Given the description of an element on the screen output the (x, y) to click on. 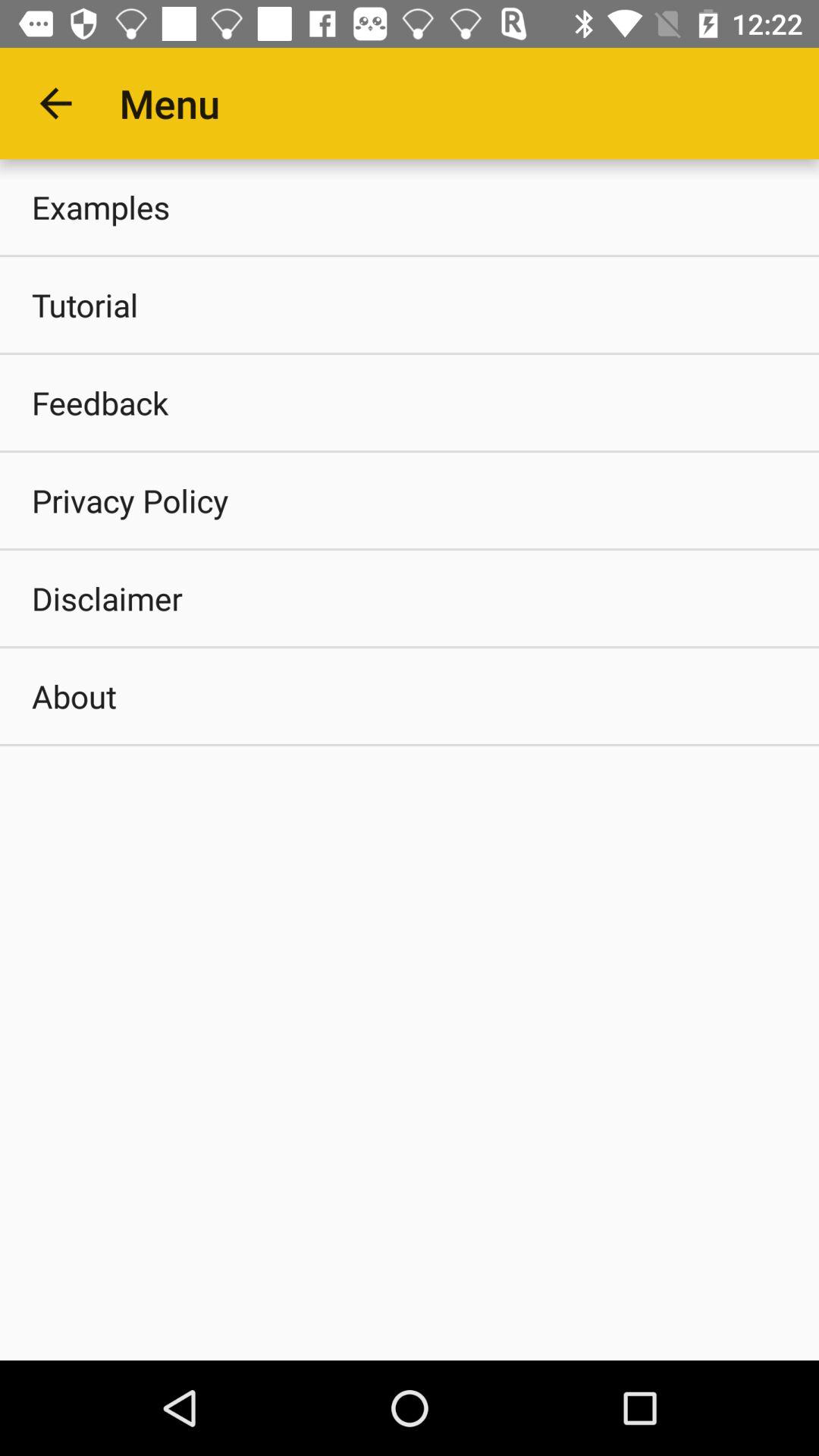
scroll until examples (409, 206)
